Given the description of an element on the screen output the (x, y) to click on. 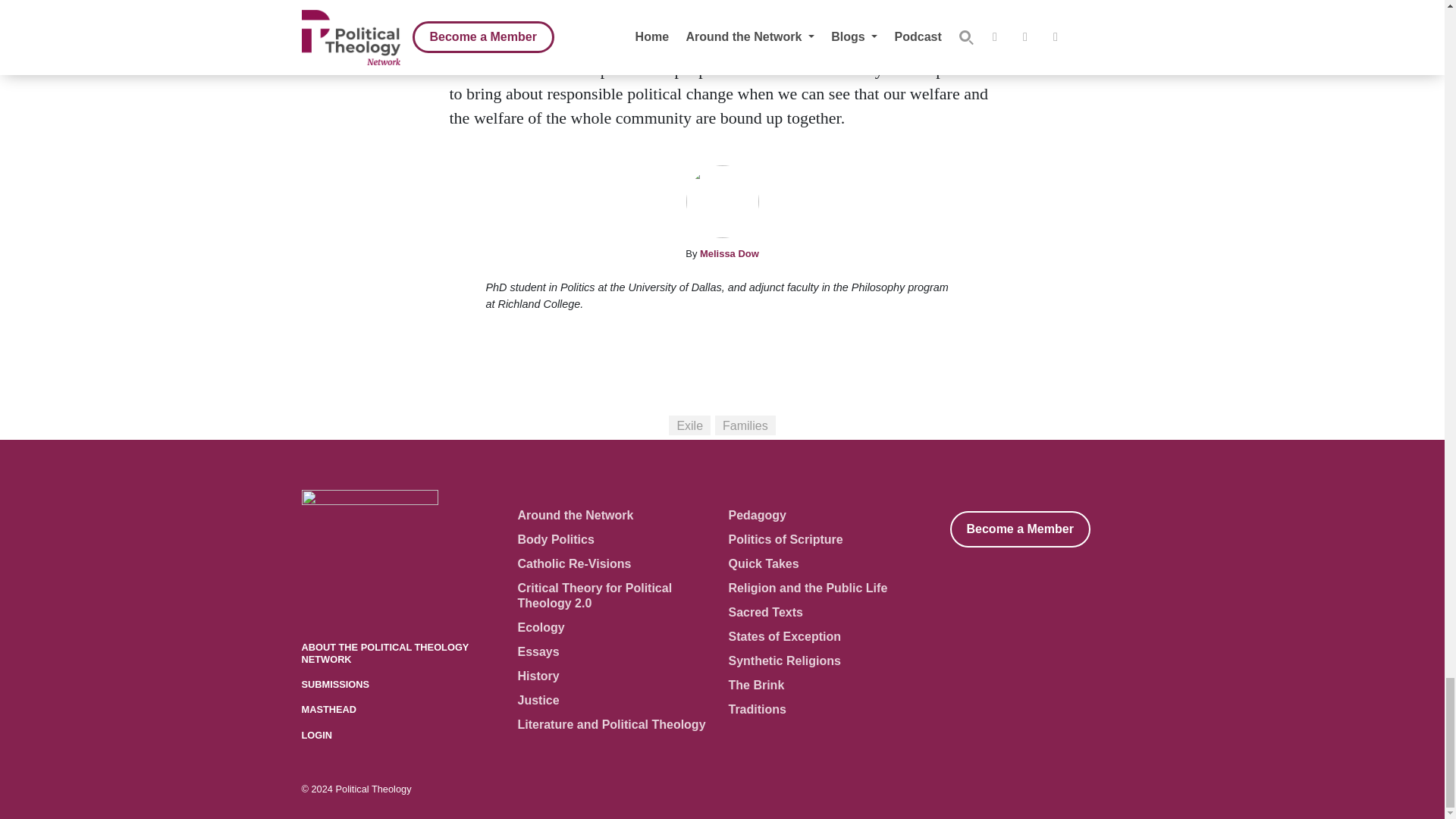
Families (745, 424)
Critical Theory for Political Theology 2.0 (593, 595)
Ecology (540, 626)
Melissa Dow (729, 253)
Body Politics (555, 539)
View all posts in exile (689, 424)
View all posts in families (745, 424)
Exile (689, 424)
Around the Network (574, 514)
Catholic Re-Visions (573, 563)
